Given the description of an element on the screen output the (x, y) to click on. 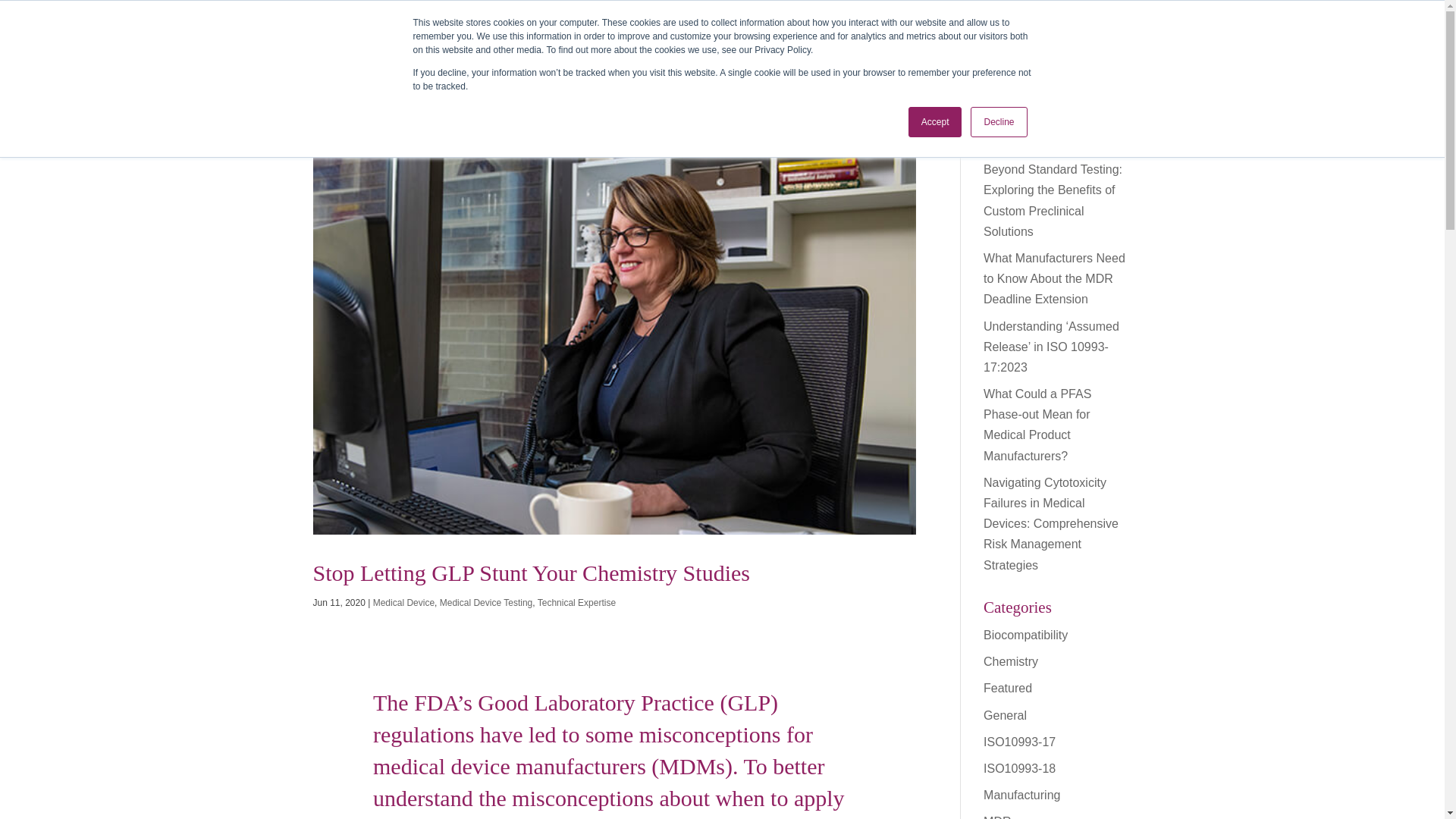
Accept (935, 122)
Decline (998, 122)
Contact Us (1106, 16)
WuXi Ordering System (1012, 16)
Company (1066, 69)
Services (846, 69)
